Given the description of an element on the screen output the (x, y) to click on. 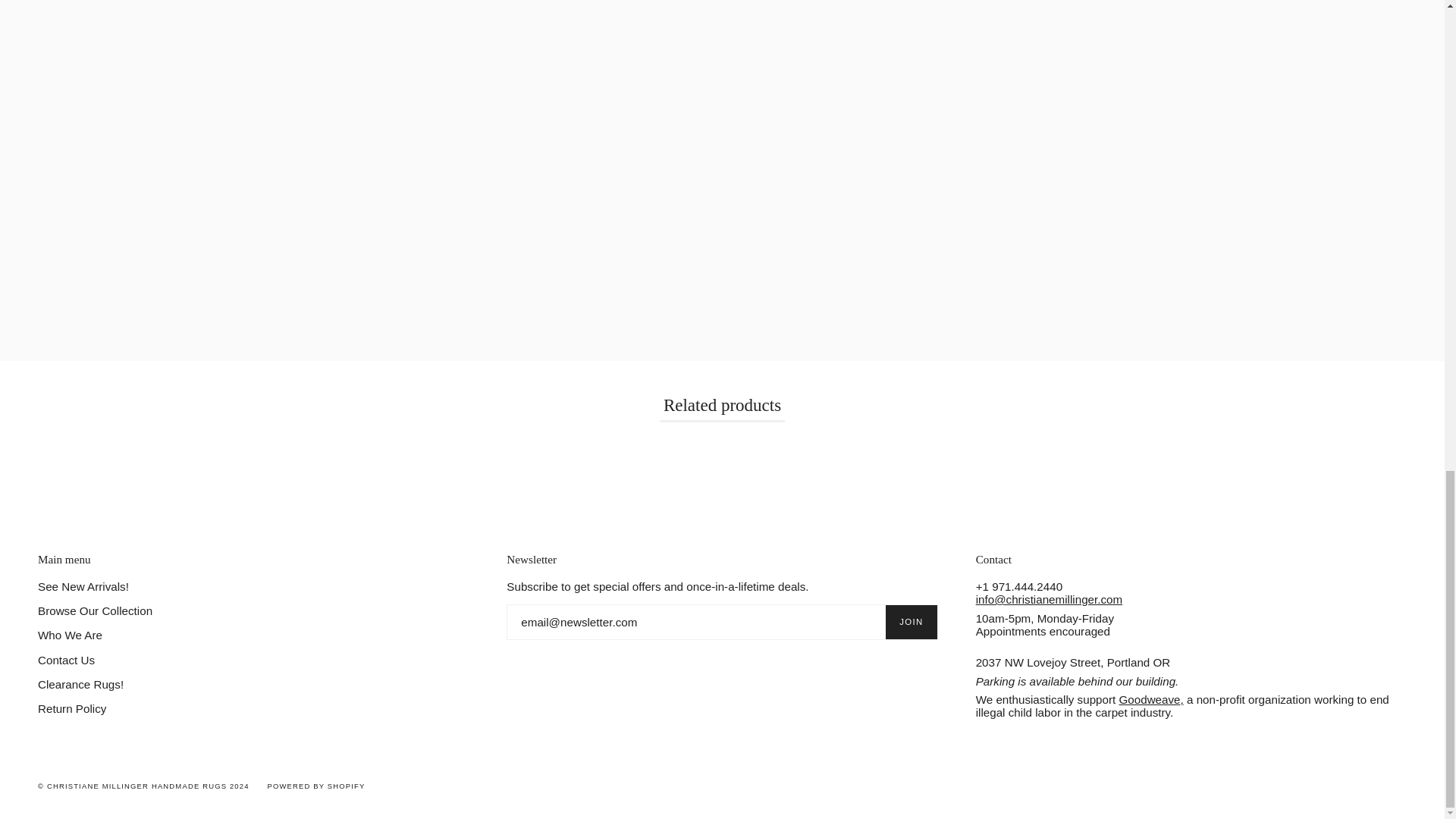
Goodweave website (1150, 698)
Email Christiane Millinger Rugs (1048, 599)
